Given the description of an element on the screen output the (x, y) to click on. 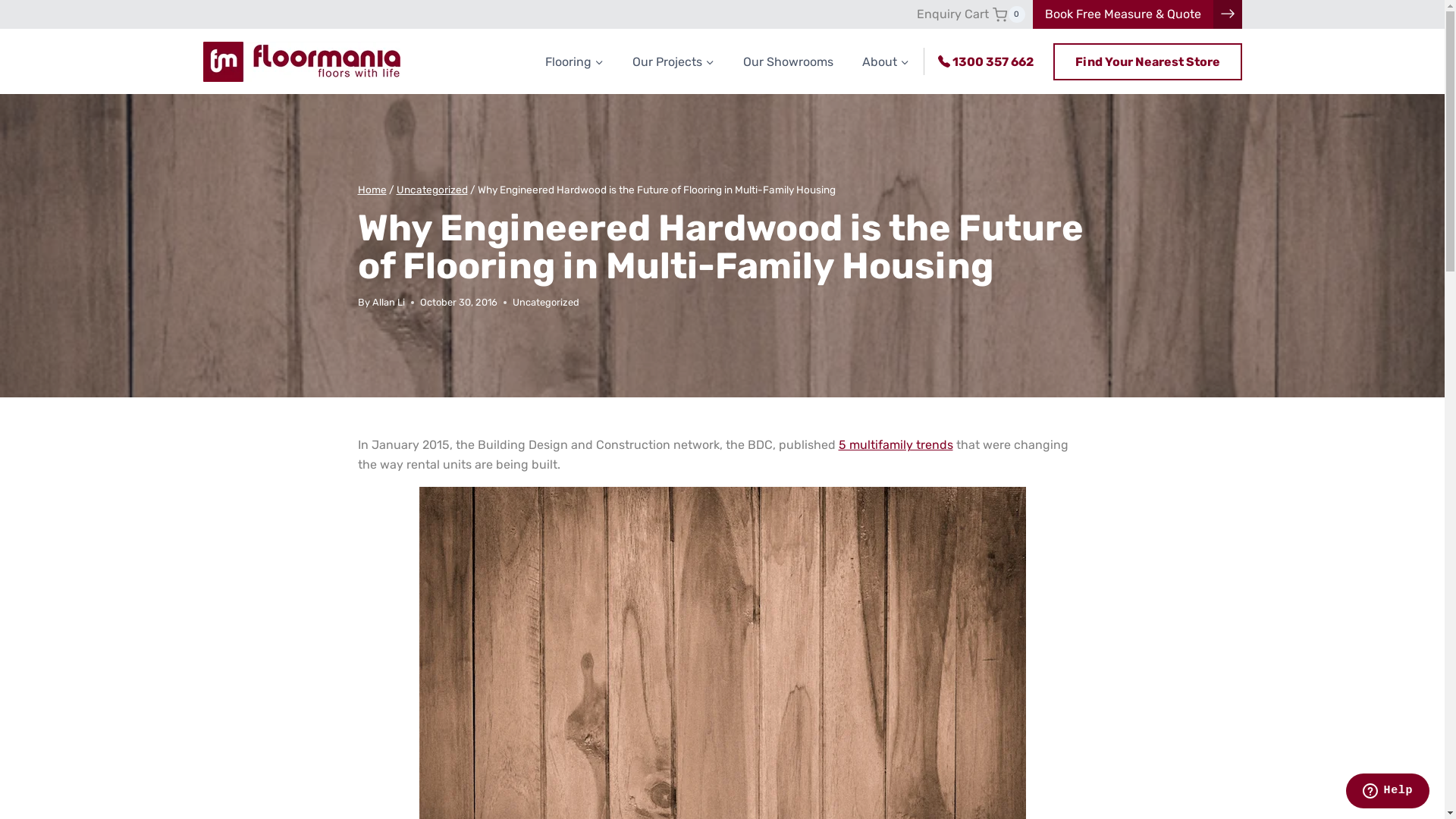
Flooring Element type: text (574, 61)
Uncategorized Element type: text (545, 301)
Our Projects Element type: text (672, 61)
Book Free Measure & Quote Element type: text (1122, 14)
Find Your Nearest Store Element type: text (1146, 61)
Home Element type: text (371, 189)
Our Showrooms Element type: text (787, 61)
Uncategorized Element type: text (431, 189)
5 multifamily trends Element type: text (895, 444)
1300 357 662 Element type: text (992, 61)
Opens a widget where you can chat to one of our agents Element type: hover (1387, 792)
Allan Li Element type: text (388, 301)
About Element type: text (885, 61)
Enquiry Cart
0 Element type: text (970, 14)
